Given the description of an element on the screen output the (x, y) to click on. 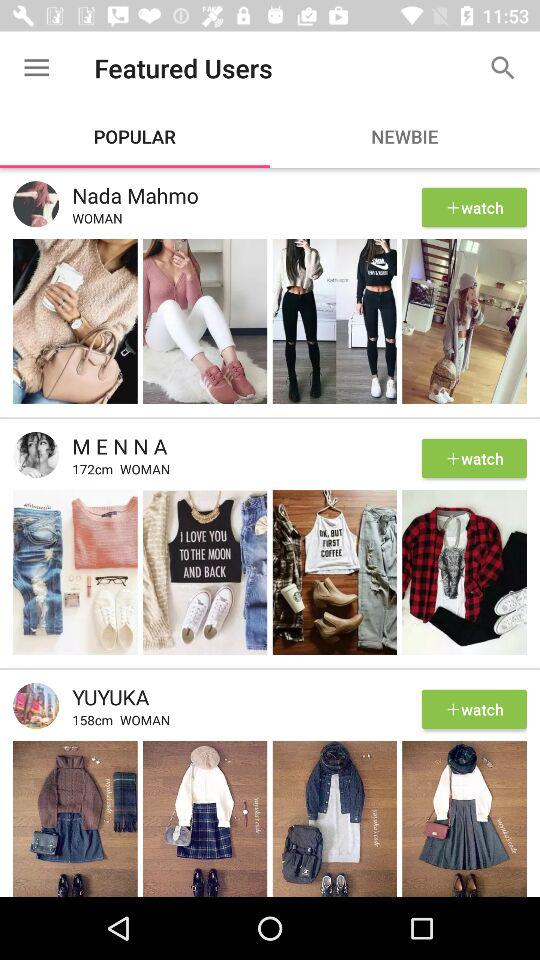
select the icon to the left of featured users (36, 68)
